Given the description of an element on the screen output the (x, y) to click on. 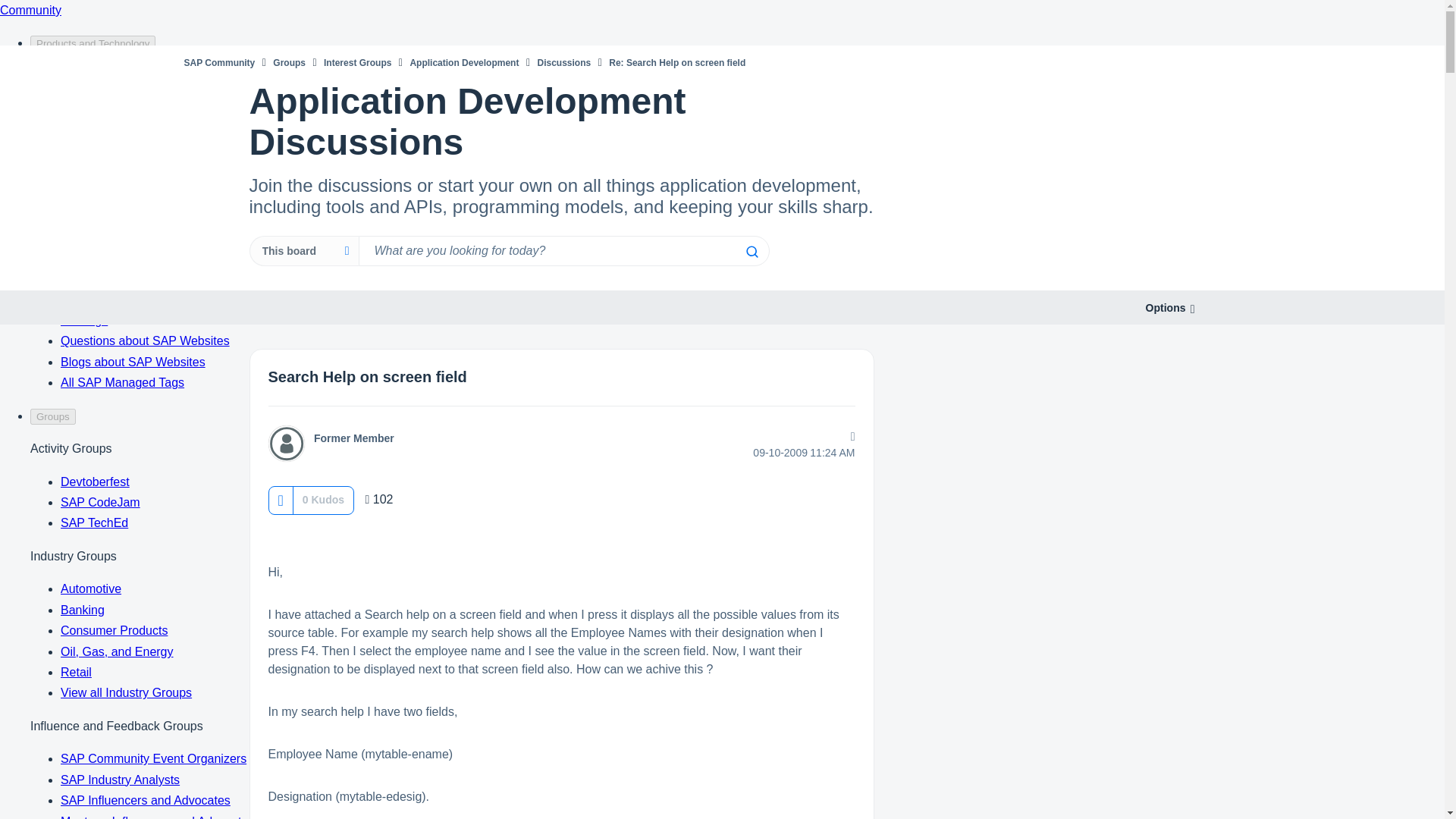
Search (563, 250)
Groups (289, 62)
Application Development (463, 62)
The total number of kudos this post has received. (323, 499)
Options (1165, 307)
Show option menu (1165, 307)
Interest Groups (357, 62)
Click here to give kudos to this post. (279, 499)
Search (750, 251)
Search Granularity (303, 250)
Search (750, 251)
SAP Community (218, 62)
Search (750, 251)
Discussions (564, 62)
